Given the description of an element on the screen output the (x, y) to click on. 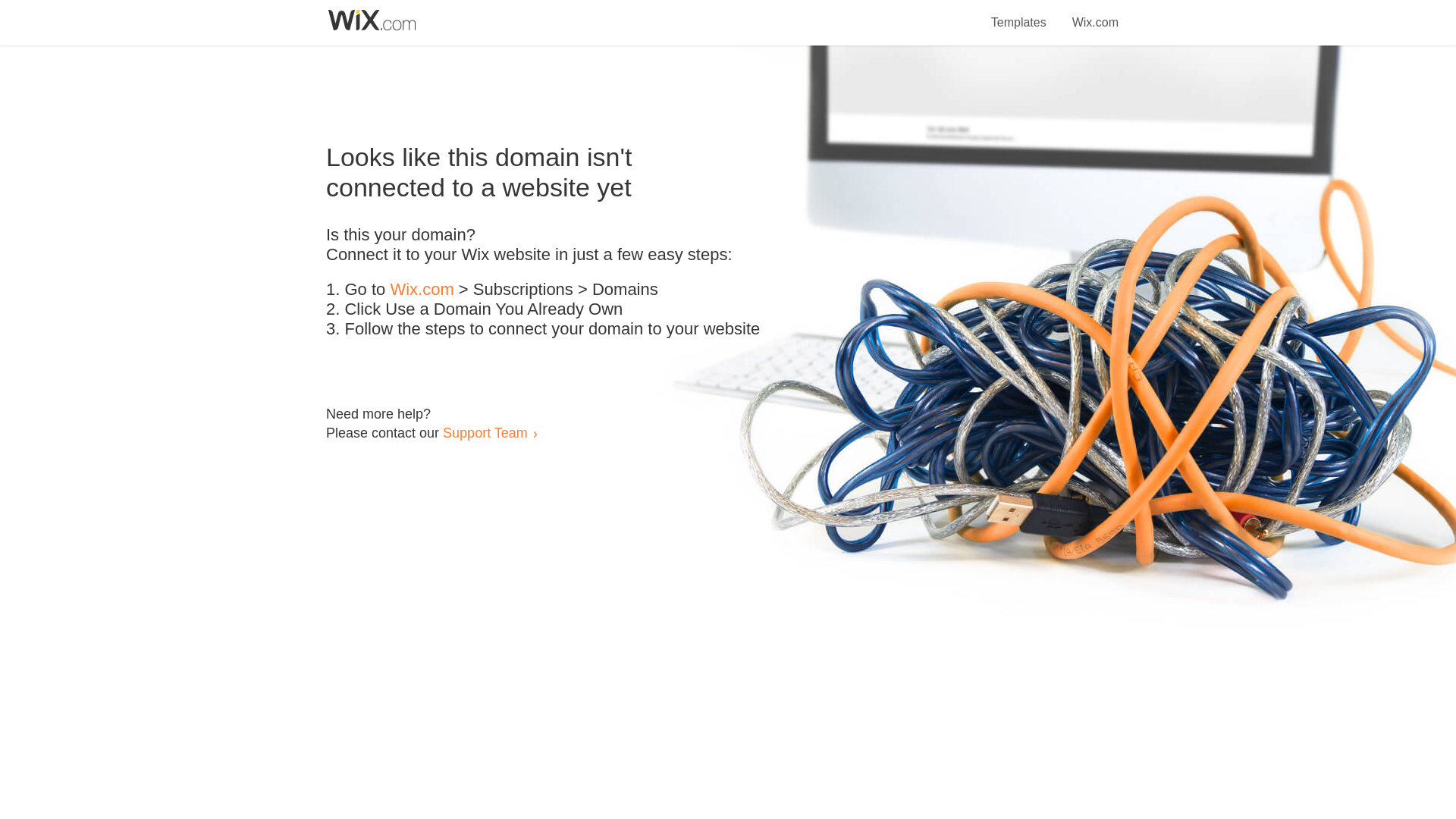
Wix.com (1095, 14)
Templates (1018, 14)
Support Team (484, 432)
Wix.com (421, 289)
